Given the description of an element on the screen output the (x, y) to click on. 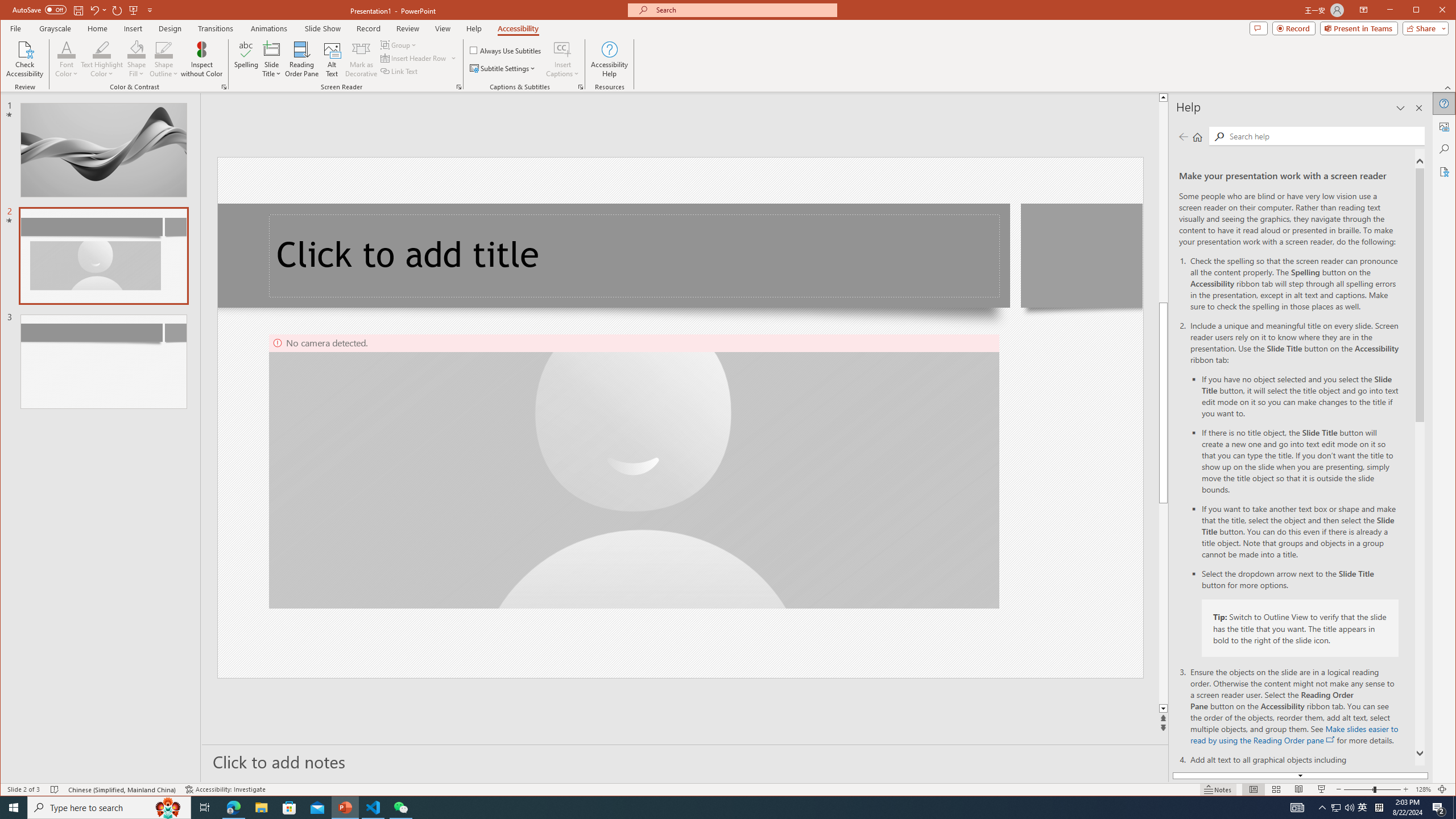
Always Use Subtitles (505, 49)
Shape Outline (163, 59)
Visual Studio Code - 1 running window (373, 807)
PowerPoint - 1 running window (345, 807)
Alt Text (1444, 125)
AutomationID: 4105 (1297, 807)
Type here to search (108, 807)
Accessibility Checker Accessibility: Investigate (225, 789)
